Given the description of an element on the screen output the (x, y) to click on. 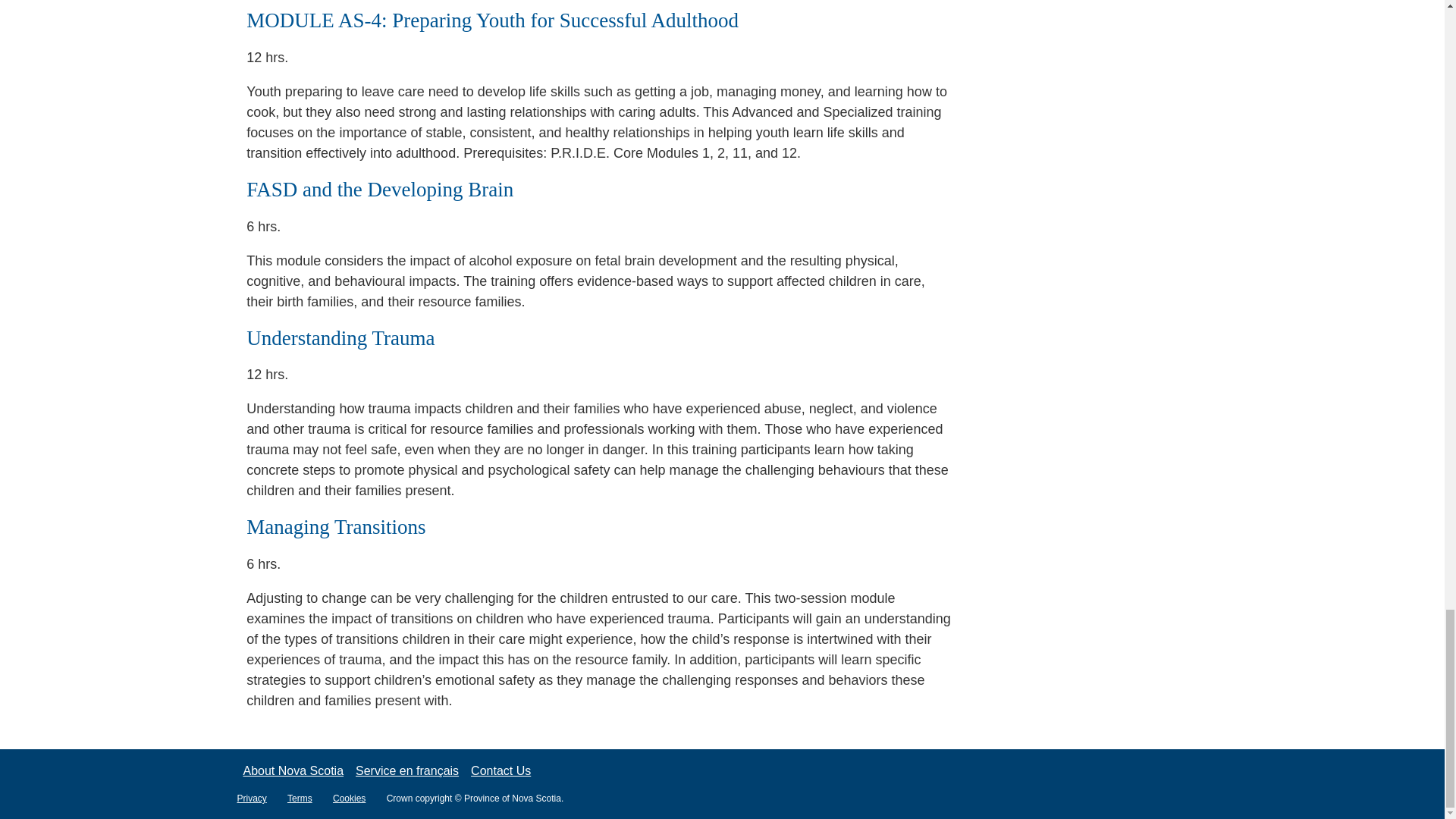
About Nova Scotia (293, 770)
Privacy (259, 798)
Contact Us (500, 770)
Cookies (358, 798)
Terms (308, 798)
